Given the description of an element on the screen output the (x, y) to click on. 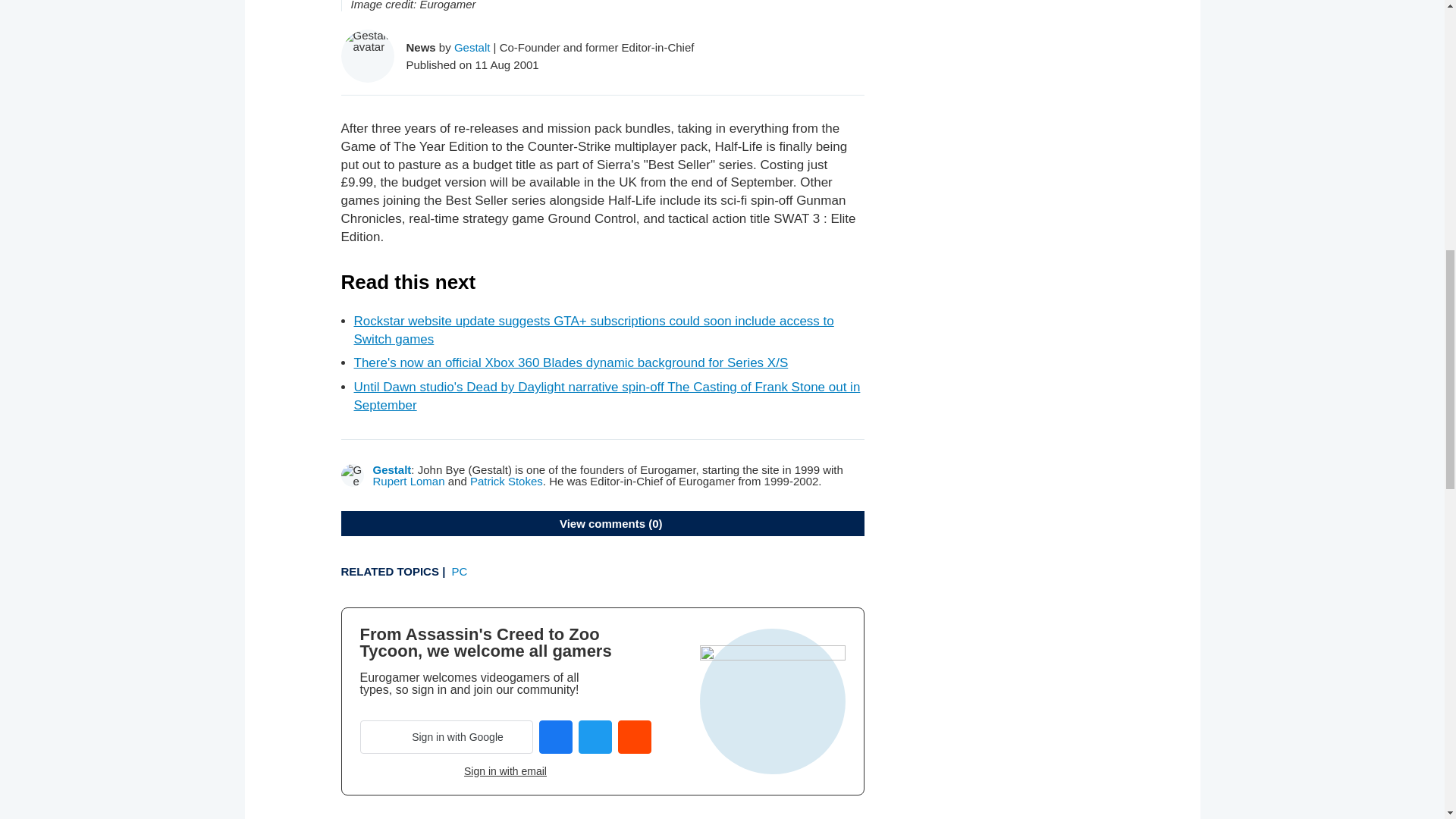
Sign in with Google (445, 736)
Rupert Loman (408, 481)
Sign in with Google (445, 736)
Gestalt (392, 469)
Patrick Stokes (506, 481)
PC (459, 571)
Gestalt (472, 47)
Sign in with email (504, 770)
